Given the description of an element on the screen output the (x, y) to click on. 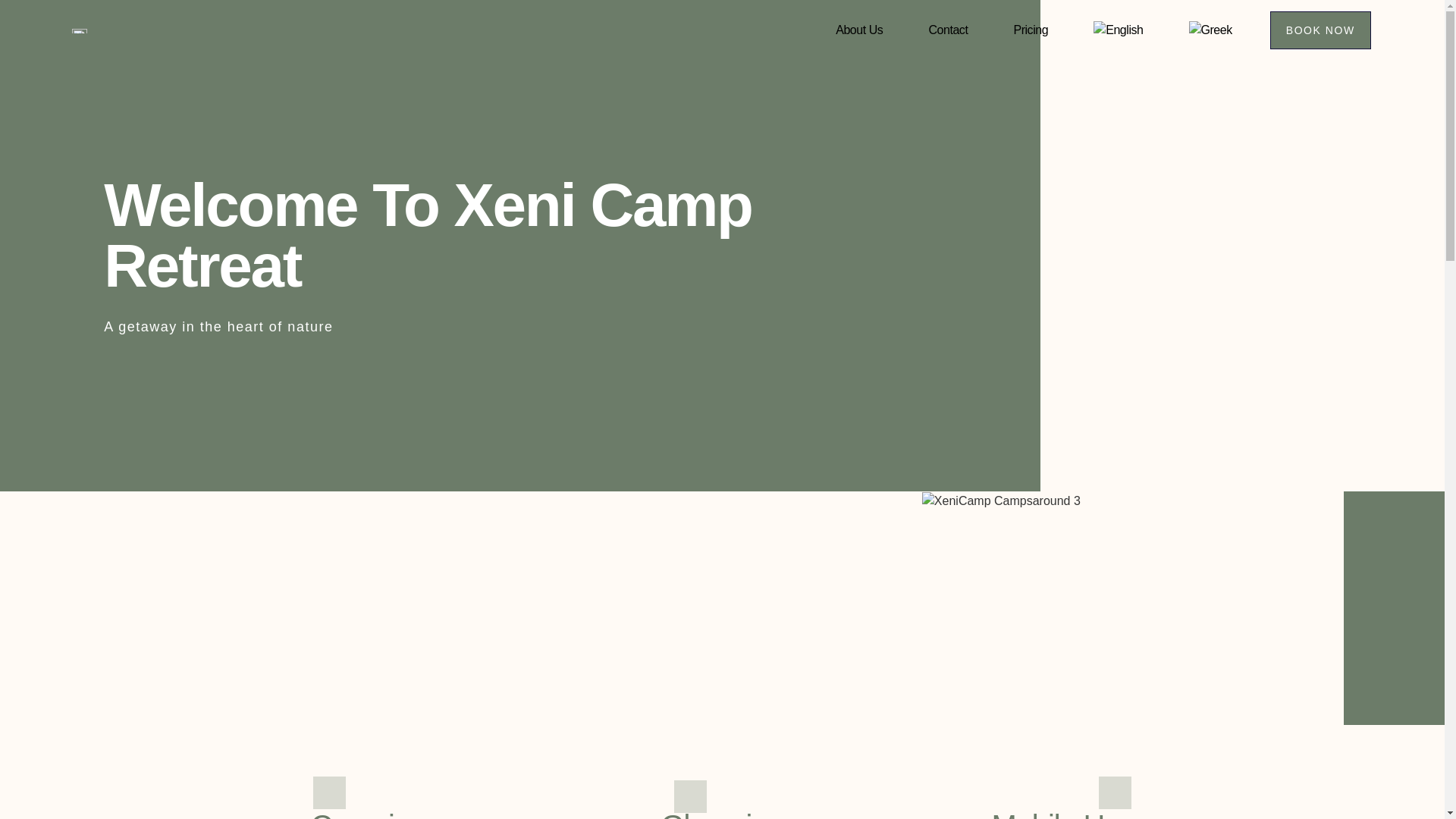
Contact (947, 30)
About Us (858, 30)
Pricing (1030, 30)
BOOK NOW (1320, 30)
XeniCamp Campsaround 3 (1000, 501)
